Given the description of an element on the screen output the (x, y) to click on. 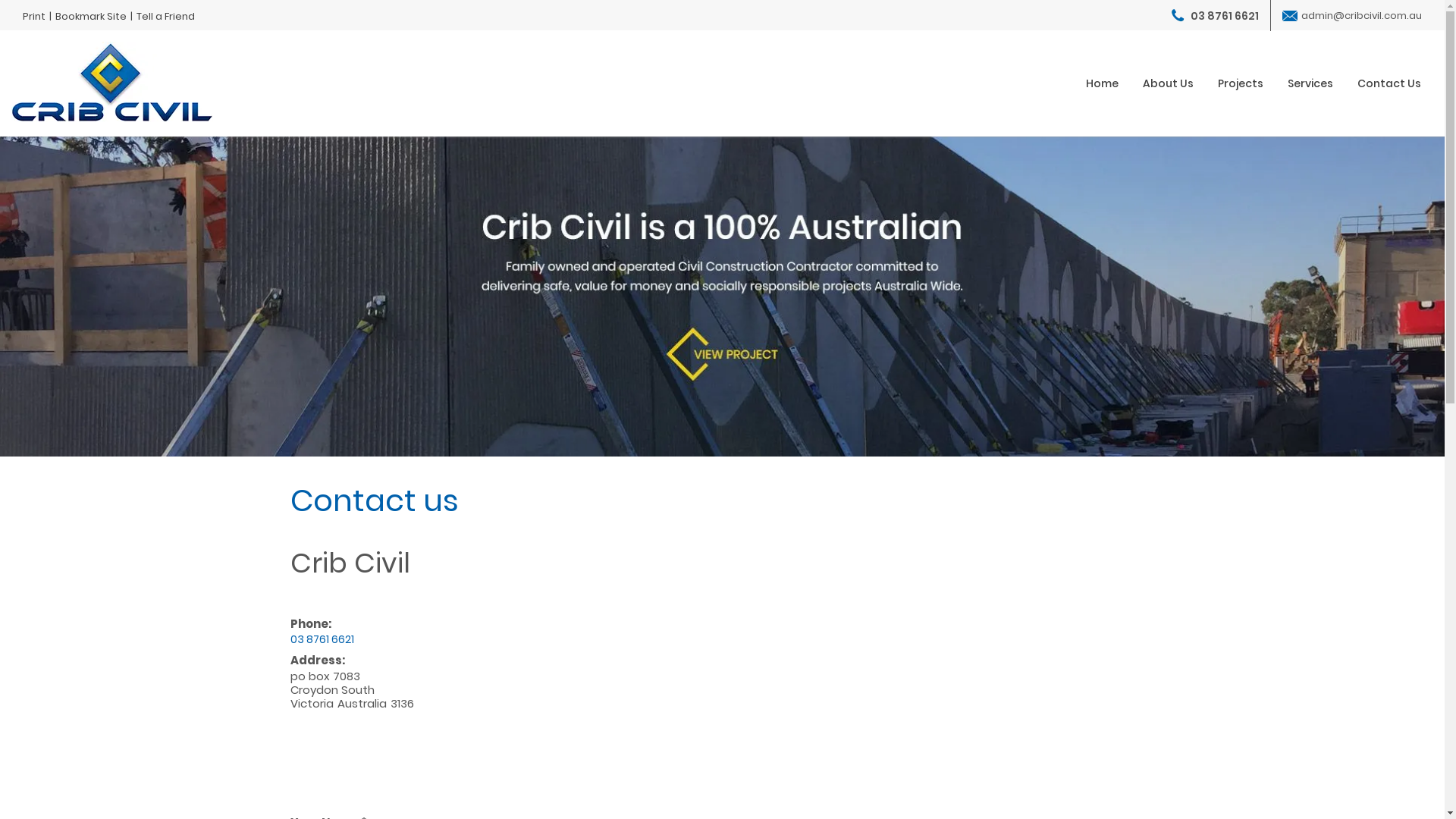
Projects Element type: text (1240, 83)
About Us Element type: text (1168, 83)
Crib Civil Element type: hover (112, 80)
03 8761 6621 Element type: text (321, 638)
Contact Crib Civil Element type: hover (722, 296)
Contact Us Element type: text (1388, 83)
Tell a Friend Element type: text (165, 16)
03 8761 6621 Element type: text (1214, 15)
Home Element type: text (1102, 83)
Services Element type: text (1309, 83)
admin@cribcivil.com.au Element type: text (1351, 15)
Print Element type: text (33, 16)
Bookmark Site Element type: text (90, 16)
